Given the description of an element on the screen output the (x, y) to click on. 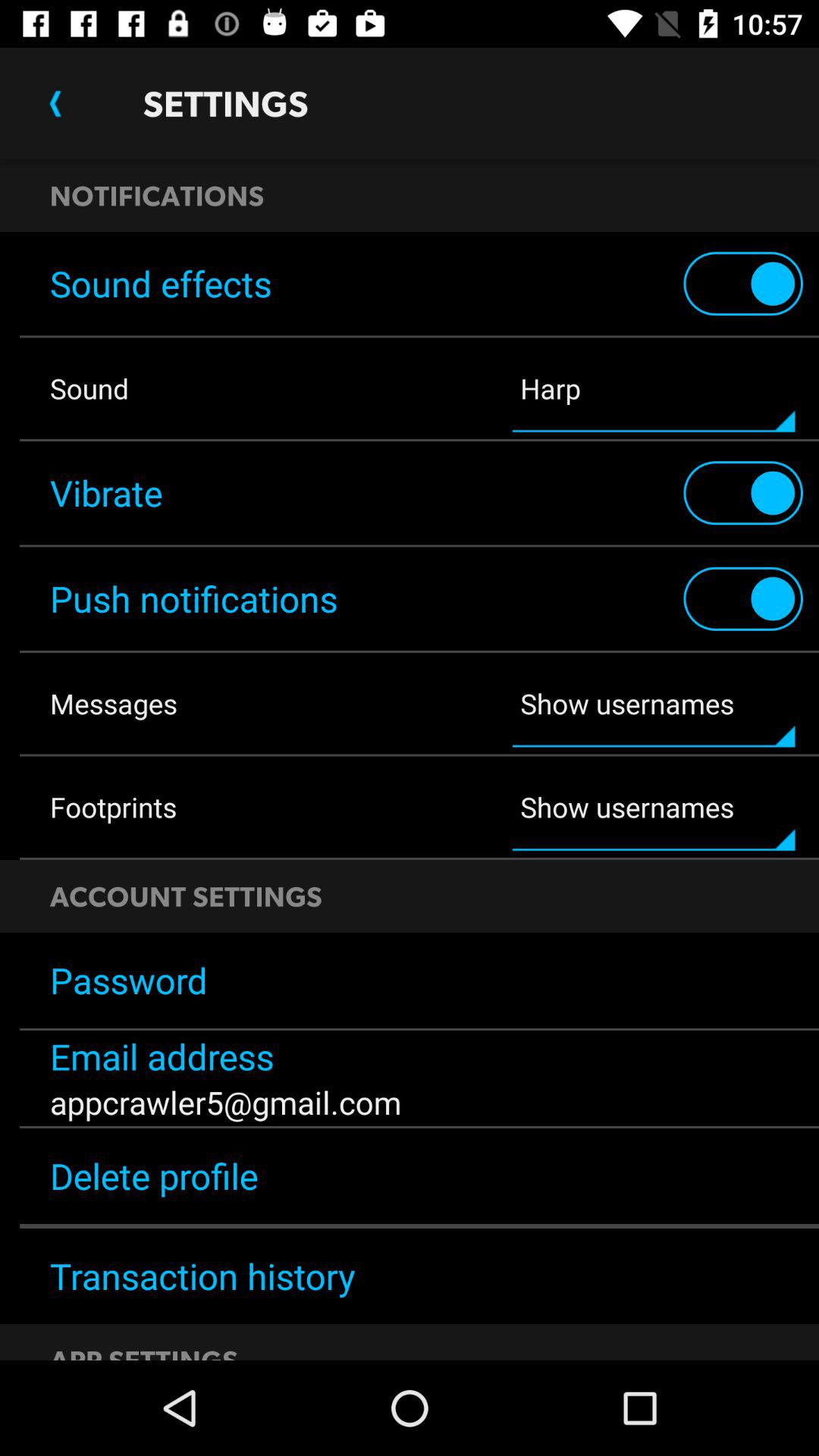
flip until delete profile icon (409, 1175)
